Given the description of an element on the screen output the (x, y) to click on. 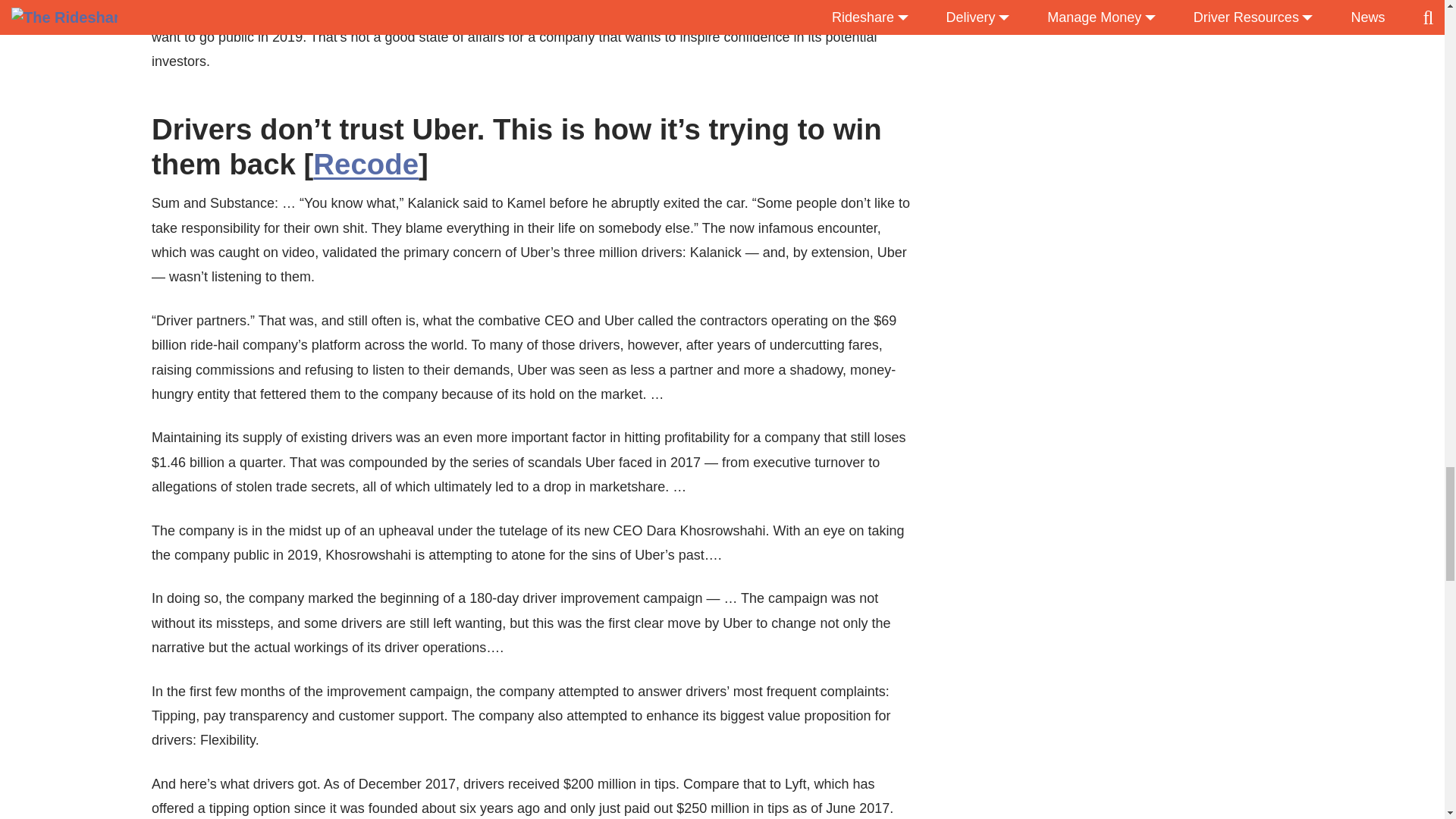
Recode (366, 164)
